Given the description of an element on the screen output the (x, y) to click on. 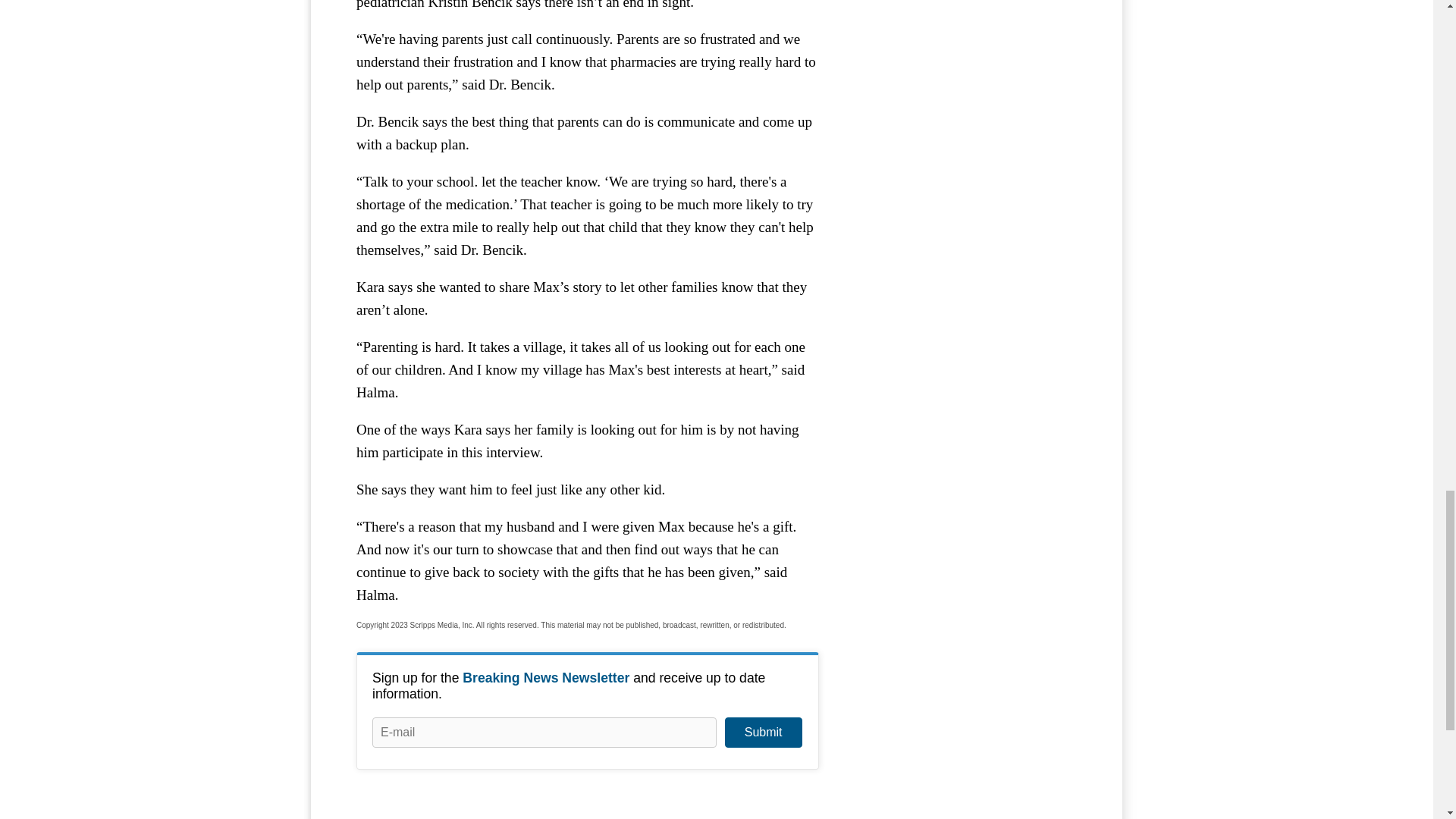
Submit (763, 732)
